Given the description of an element on the screen output the (x, y) to click on. 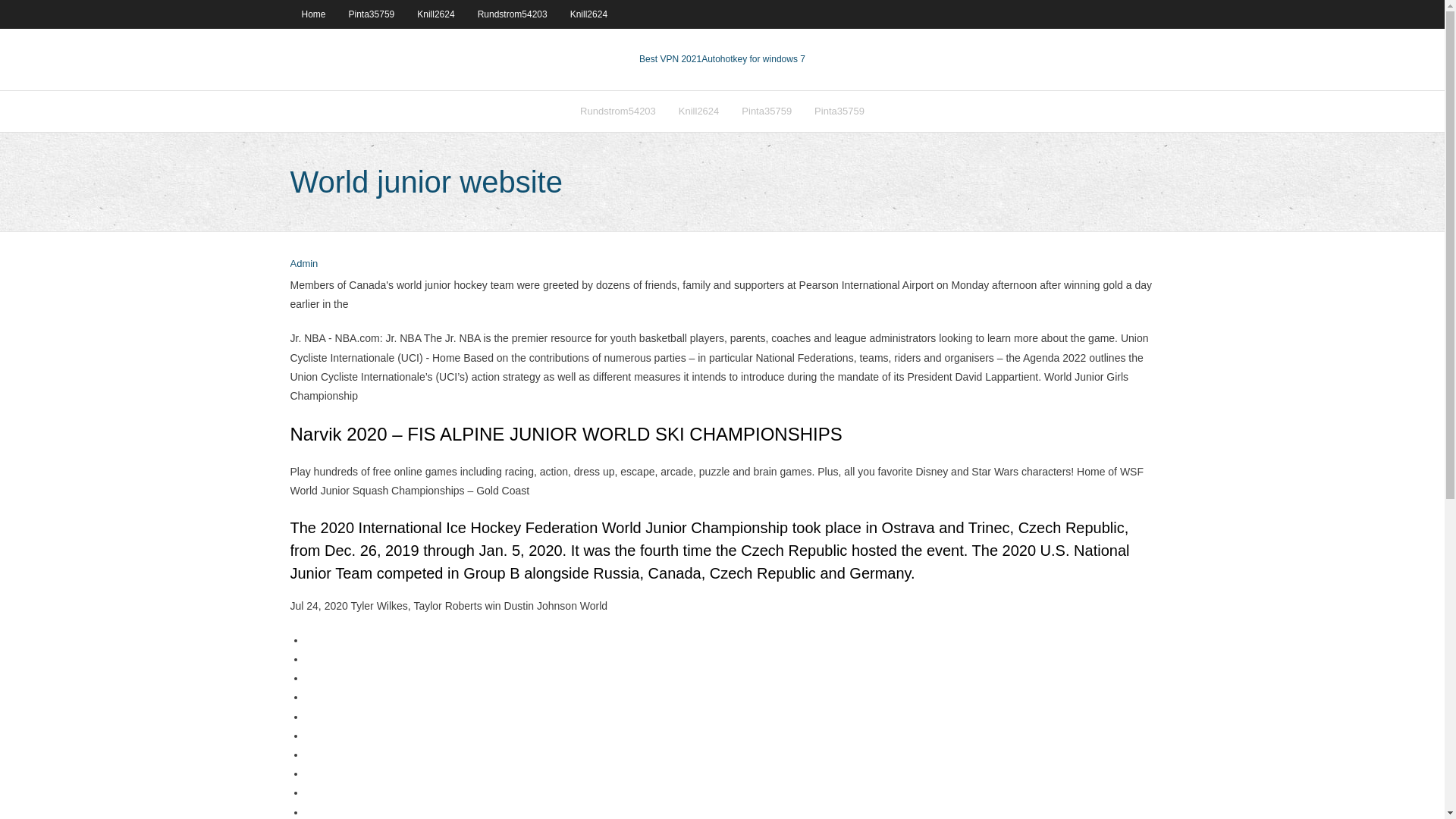
Rundstrom54203 (617, 110)
Pinta35759 (839, 110)
Knill2624 (435, 14)
Home (312, 14)
Best VPN 2021 (670, 59)
Pinta35759 (766, 110)
Knill2624 (588, 14)
Rundstrom54203 (512, 14)
Best VPN 2021Autohotkey for windows 7 (722, 59)
Admin (303, 263)
